Given the description of an element on the screen output the (x, y) to click on. 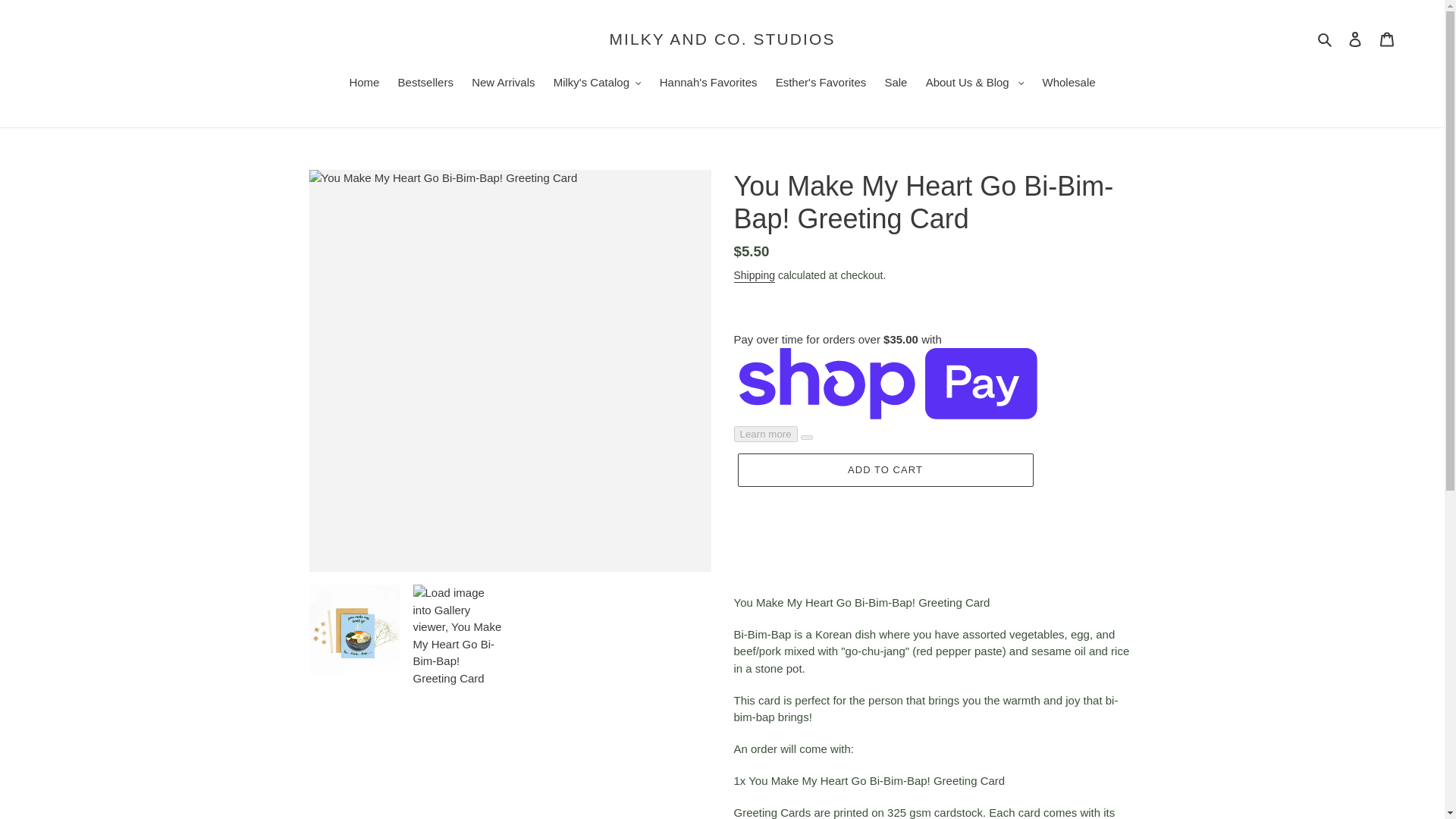
Search (1326, 38)
Log in (1355, 38)
Cart (1387, 38)
MILKY AND CO. STUDIOS (721, 38)
